Given the description of an element on the screen output the (x, y) to click on. 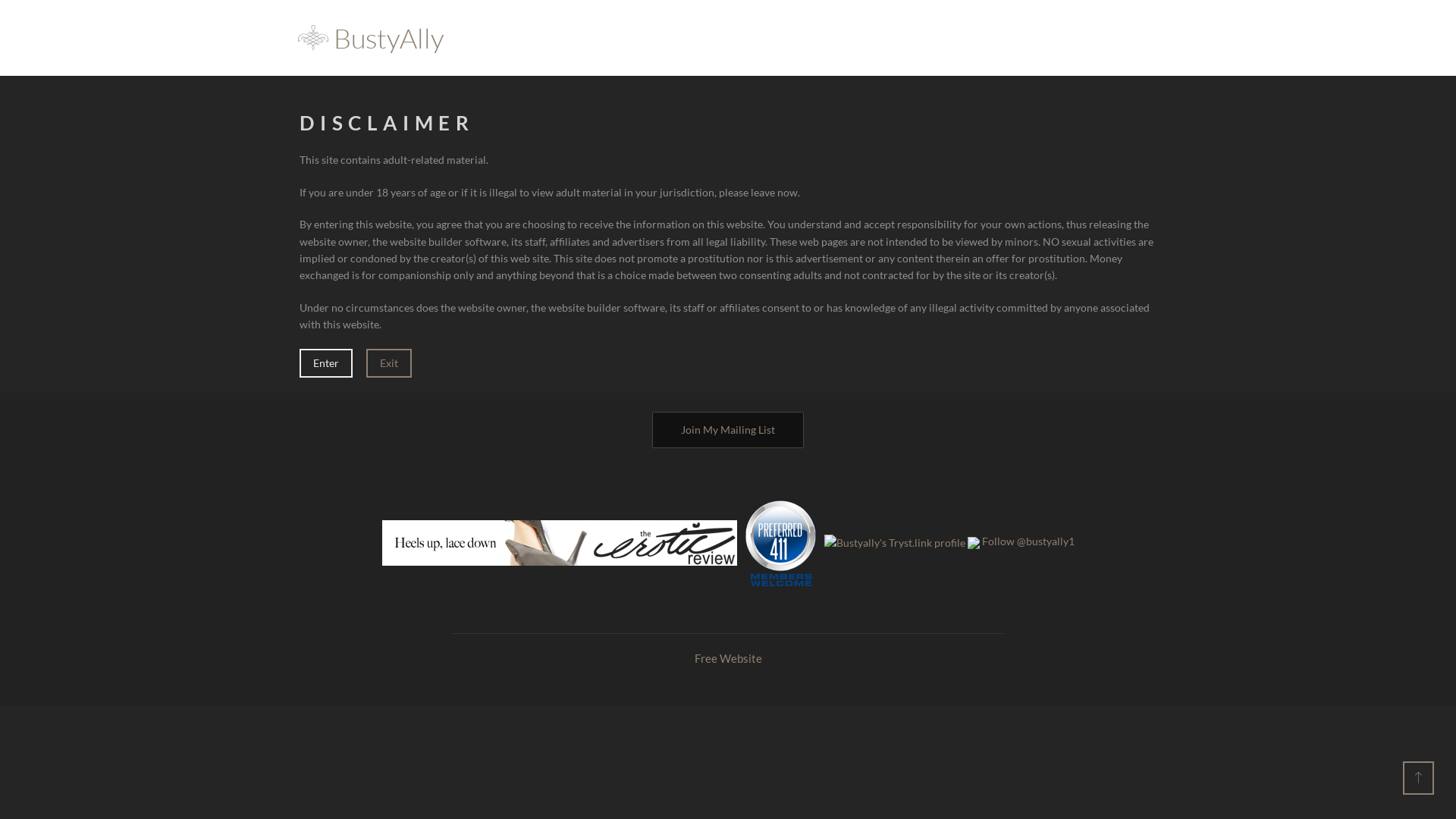
Bustyally's Tryst.link profile Element type: hover (893, 540)
Enter Element type: text (325, 362)
Join My Mailing List Element type: text (727, 429)
Exit Element type: text (388, 362)
Follow @bustyally1 Element type: text (1027, 540)
Free Website Element type: text (728, 658)
